Given the description of an element on the screen output the (x, y) to click on. 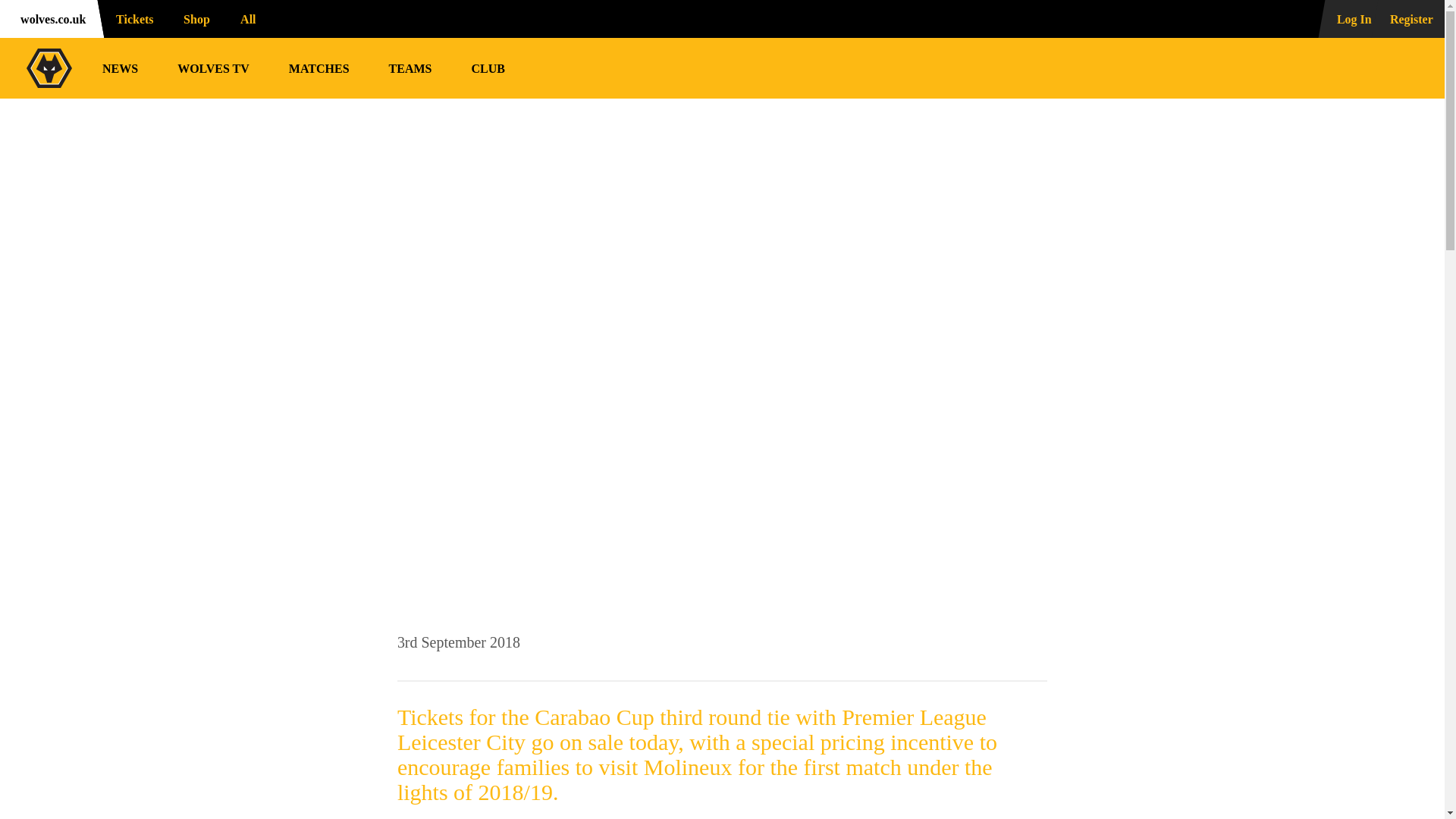
Shop (193, 18)
All (254, 18)
Log In (1346, 18)
wolves.co.uk (48, 18)
Tickets (130, 18)
Skip to content (12, 12)
